Given the description of an element on the screen output the (x, y) to click on. 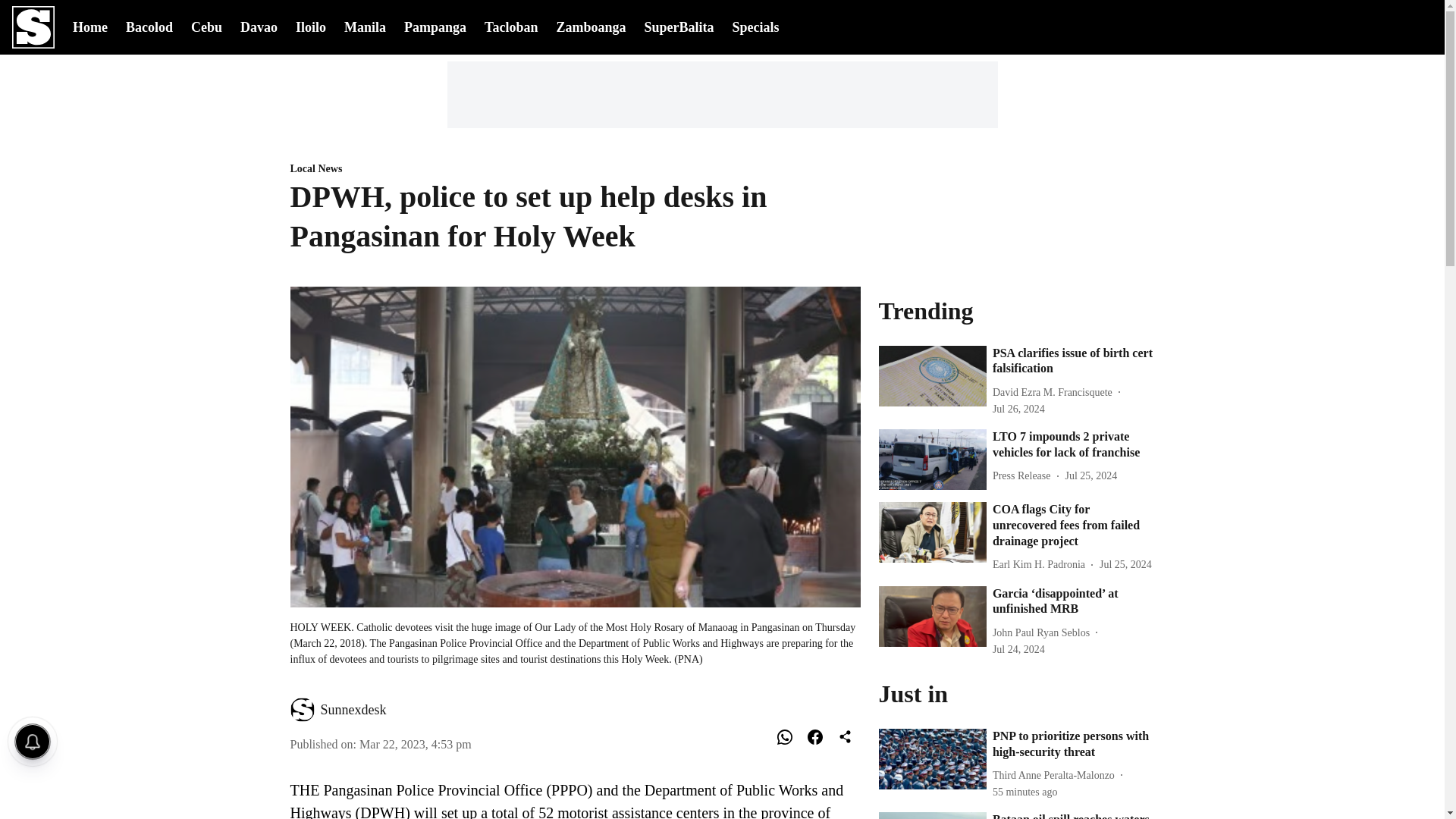
LTO 7 impounds 2 private vehicles for lack of franchise (1073, 445)
Earl Kim H. Padronia (1041, 564)
Tacloban (510, 26)
2024-07-28 06:47 (1025, 791)
Dark Mode (1382, 27)
2024-07-25 12:39 (1125, 564)
Home (89, 26)
Zamboanga (591, 26)
PSA clarifies issue of birth cert falsification (1073, 361)
Trending (1015, 309)
Pampanga (434, 26)
2024-07-25 06:25 (1090, 475)
Iloilo (310, 26)
